Given the description of an element on the screen output the (x, y) to click on. 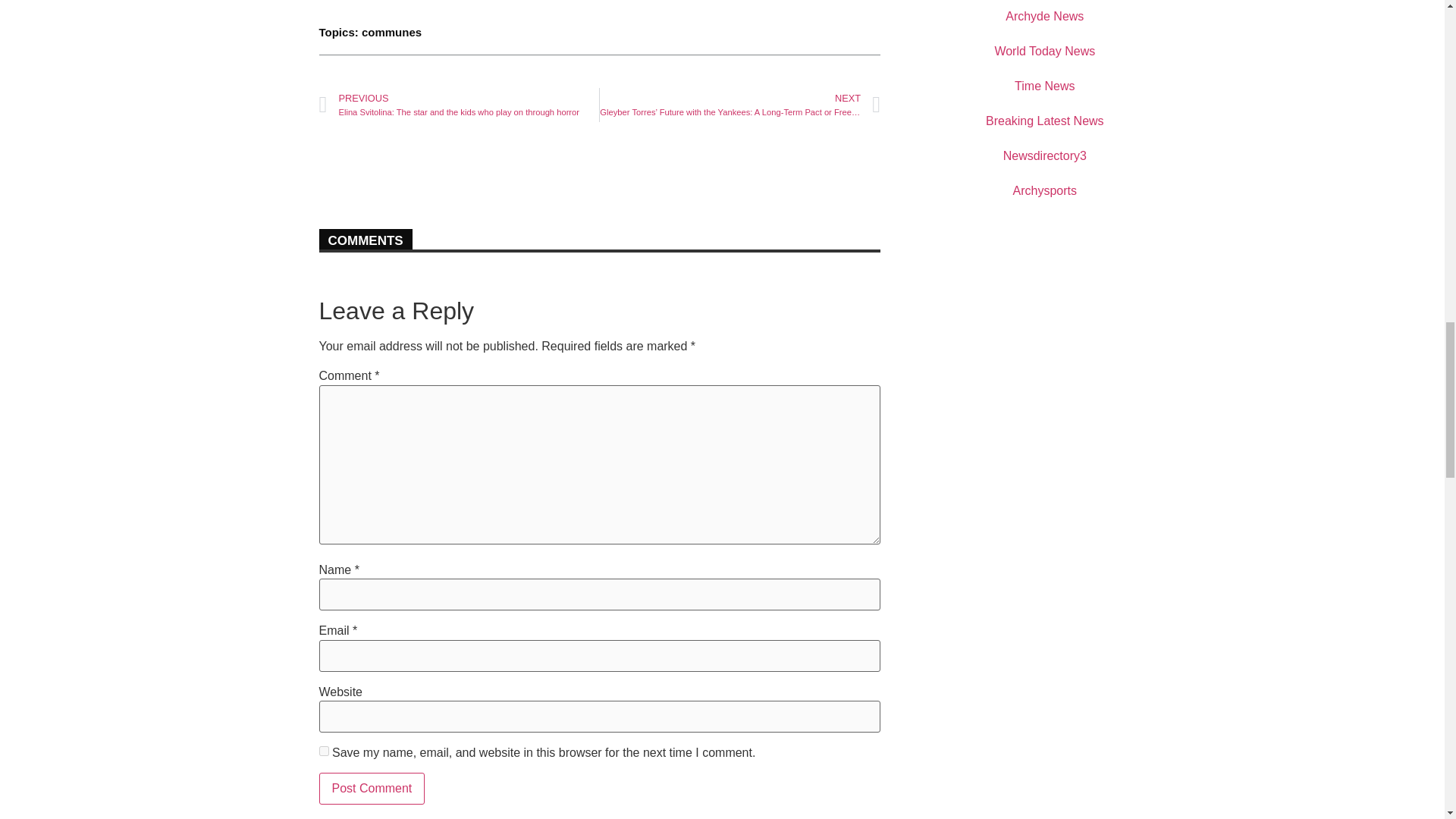
yes (323, 750)
Post Comment (371, 788)
